Given the description of an element on the screen output the (x, y) to click on. 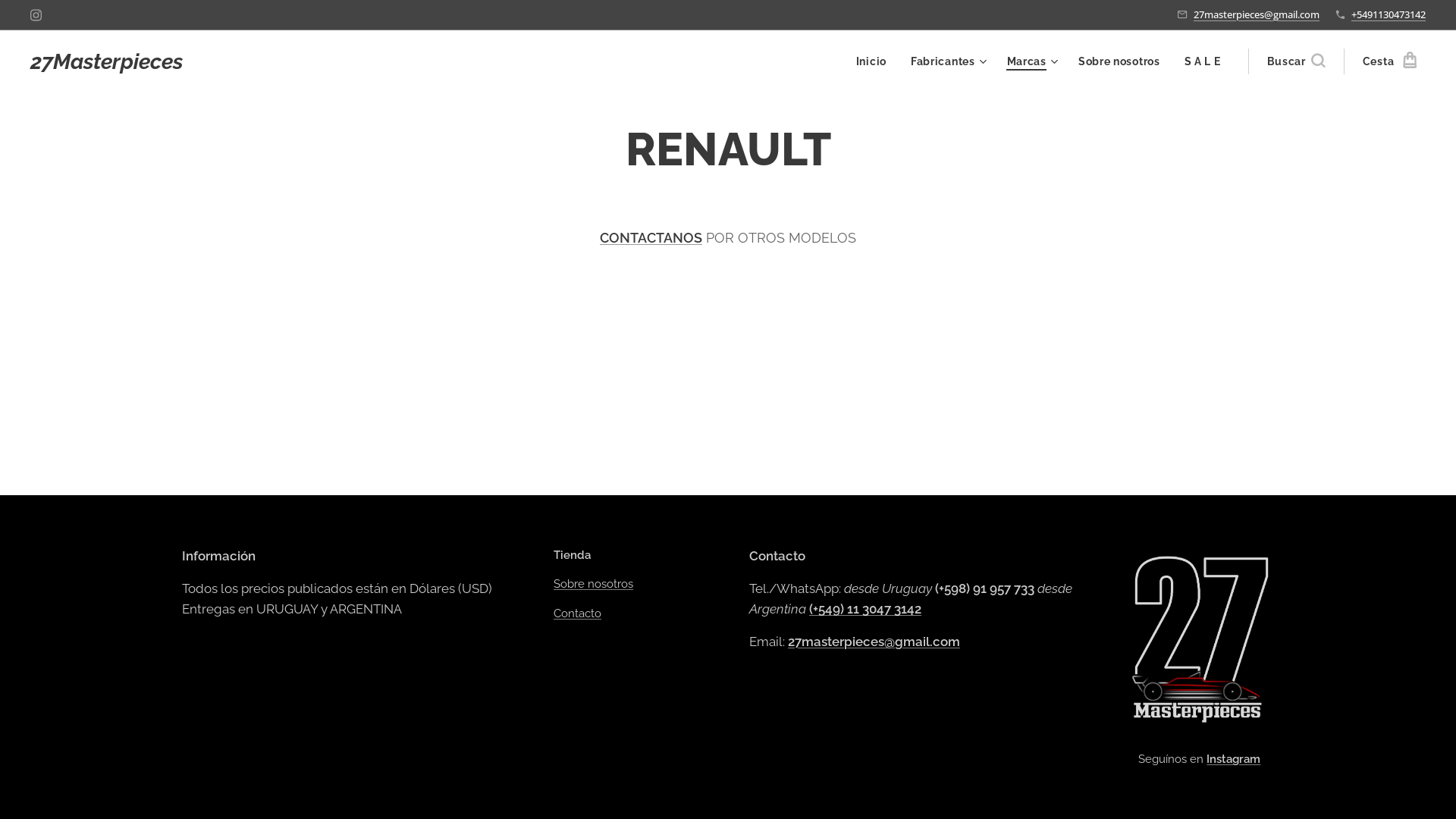
27Masterpieces Element type: text (106, 61)
(+549) 11 3047 3142 Element type: text (865, 608)
Instagram Element type: hover (35, 15)
27masterpieces@gmail.com Element type: text (1256, 14)
27masterpieces@gmail.com Element type: text (873, 640)
Cesta Element type: text (1384, 61)
Instagram Element type: text (1234, 758)
Contacto Element type: text (577, 612)
Fabricantes Element type: text (946, 61)
+5491130473142 Element type: text (1388, 14)
Sobre nosotros Element type: text (1119, 61)
S A L E Element type: text (1202, 61)
Sobre nosotros Element type: text (593, 583)
Inicio Element type: text (875, 61)
CONTACTANOS Element type: text (650, 237)
Marcas Element type: text (1030, 61)
